Given the description of an element on the screen output the (x, y) to click on. 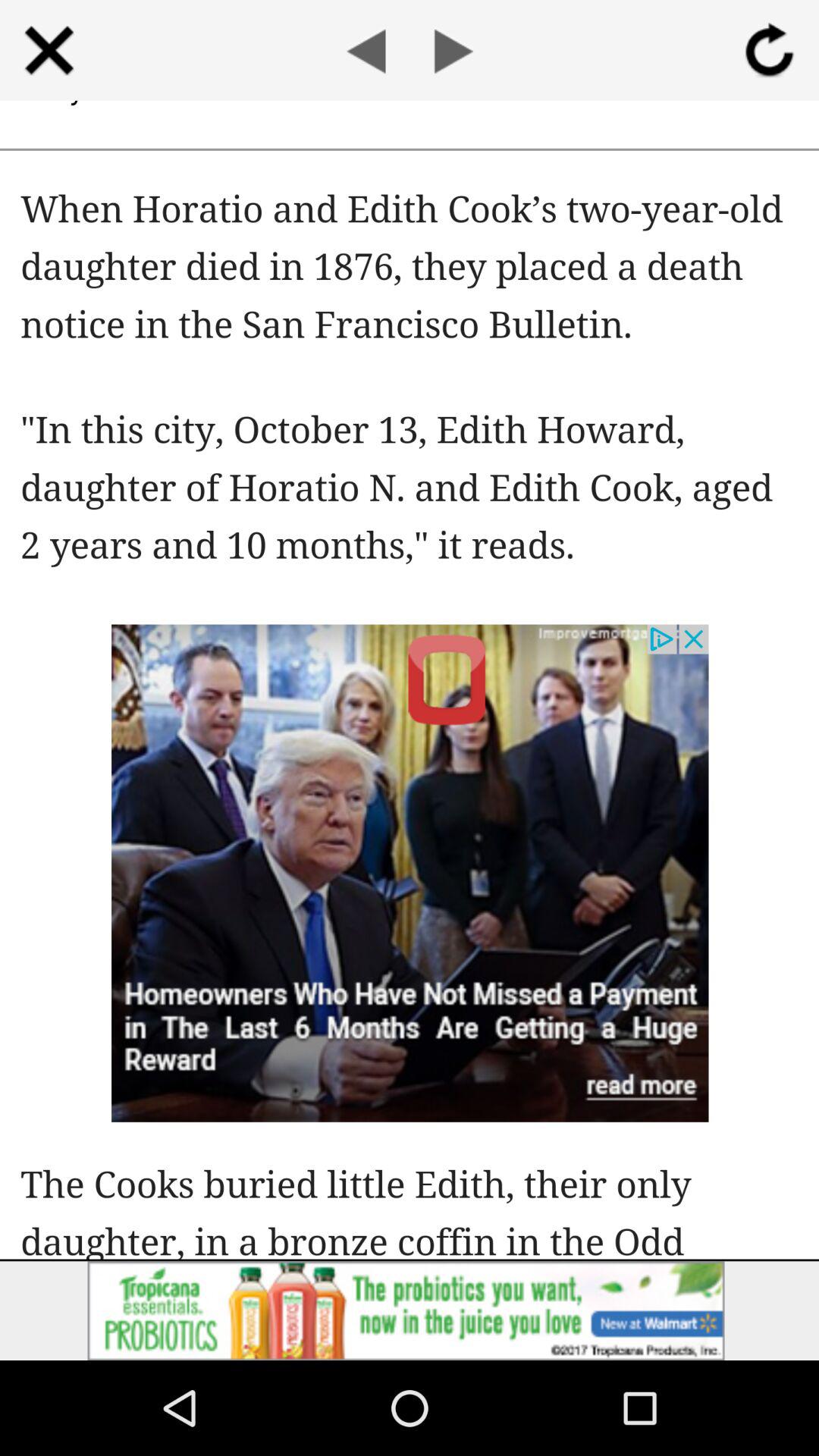
close page (48, 50)
